Given the description of an element on the screen output the (x, y) to click on. 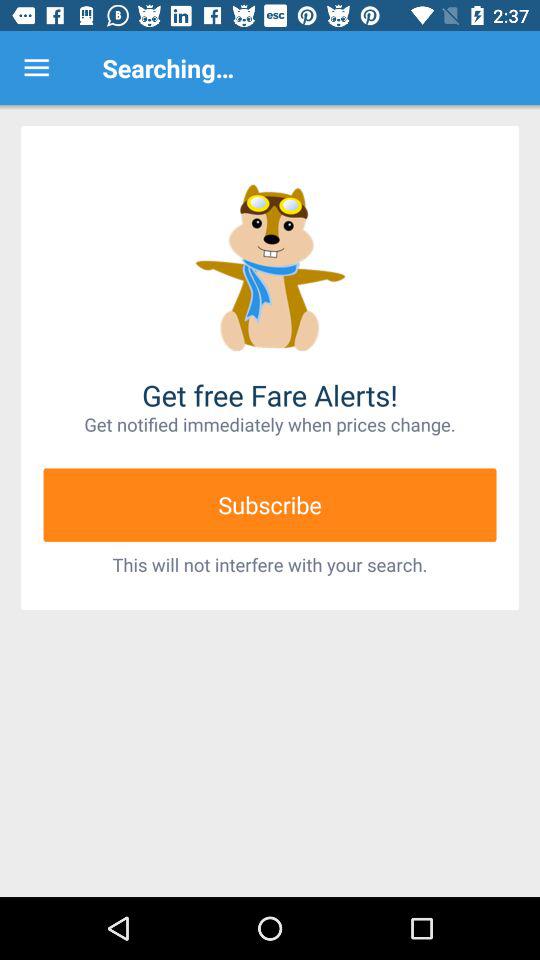
open item below get notified immediately item (269, 504)
